Given the description of an element on the screen output the (x, y) to click on. 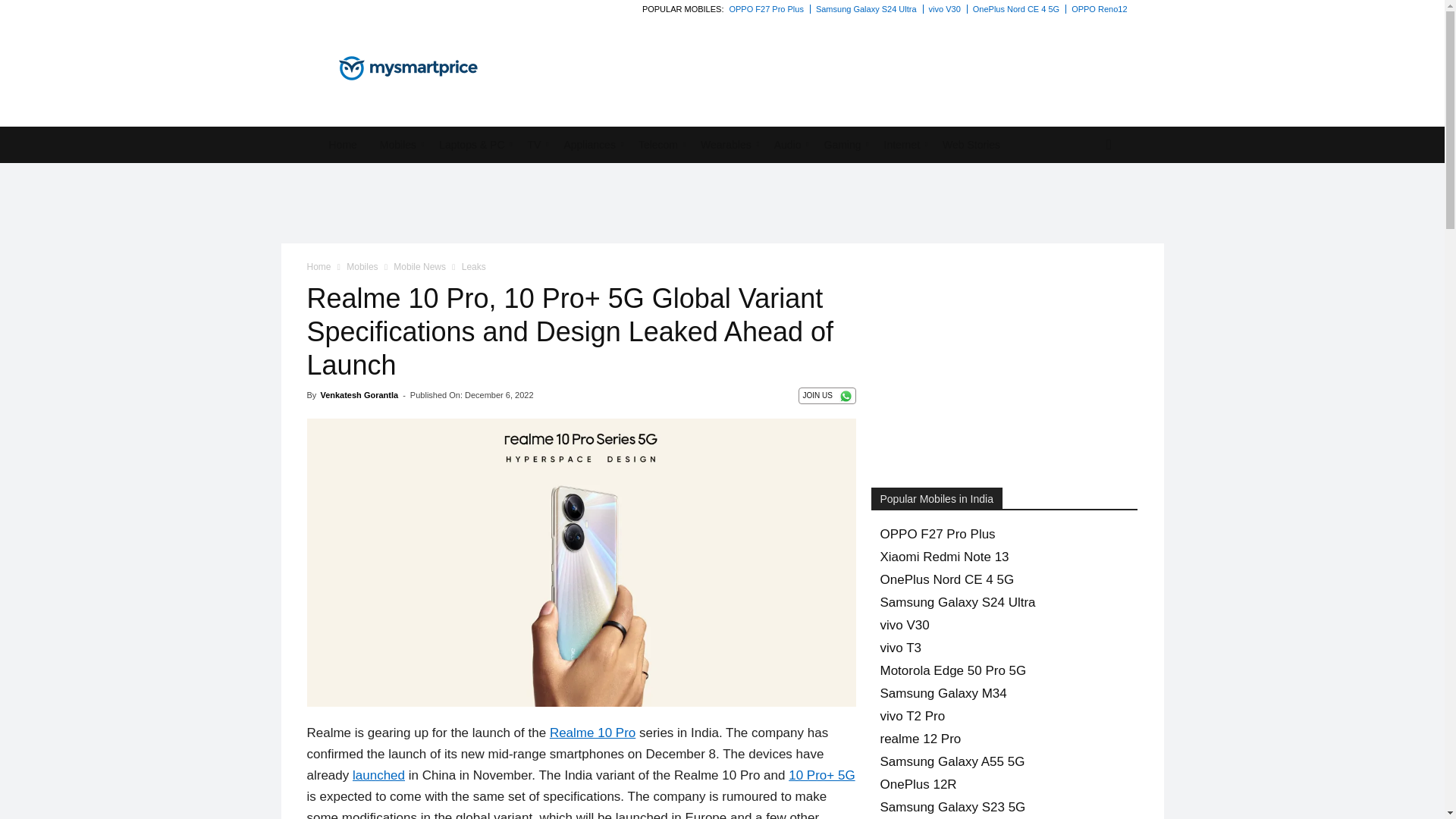
3rd party ad content (1020, 56)
MySmartPrice News (407, 68)
3rd party ad content (721, 202)
